Given the description of an element on the screen output the (x, y) to click on. 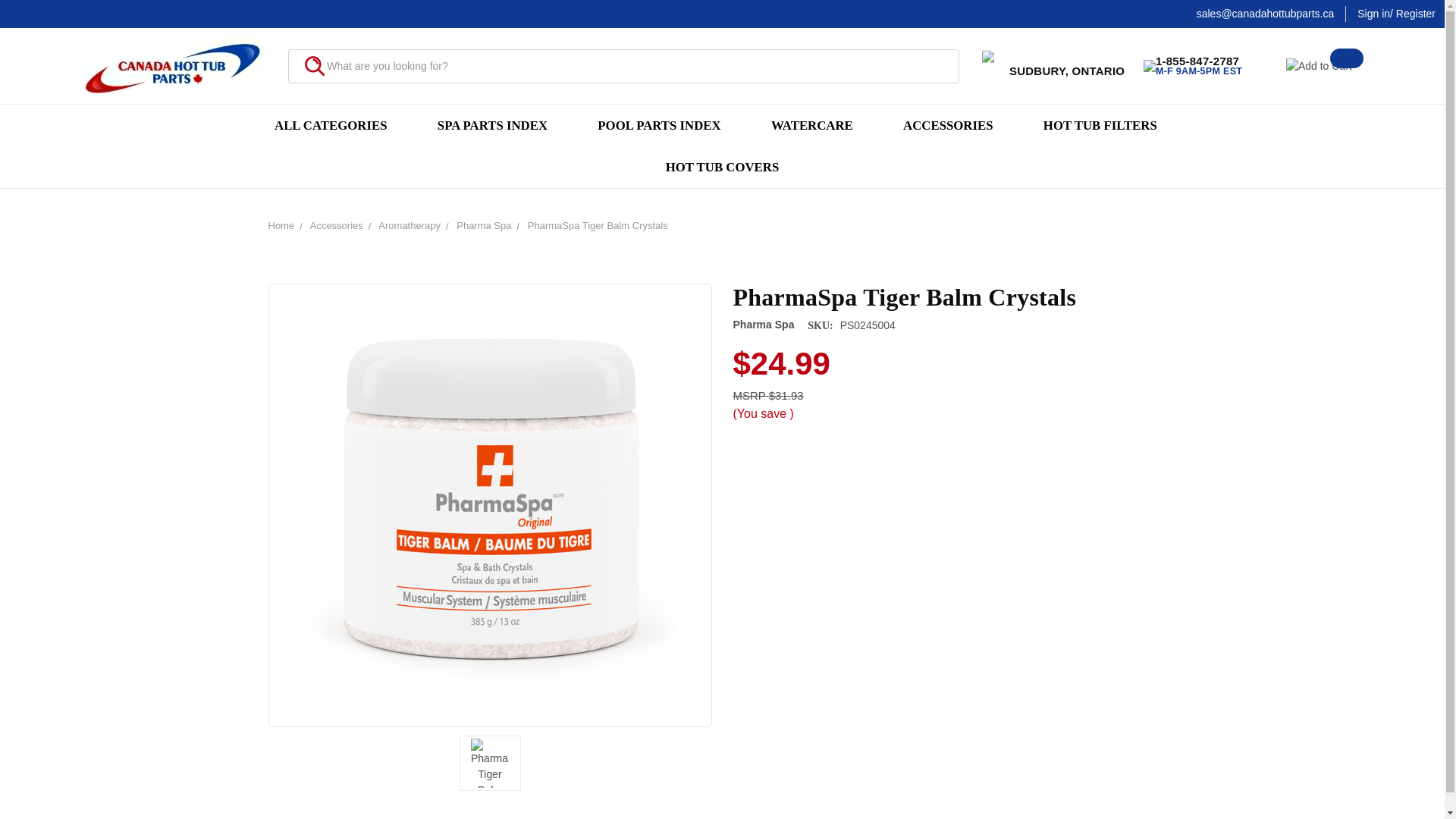
SUDBURY, ONTARIO (1049, 68)
Canada Hot Tub Parts (172, 68)
Sign in (1373, 13)
SPA PARTS INDEX (1191, 65)
ALL CATEGORIES (499, 125)
